Given the description of an element on the screen output the (x, y) to click on. 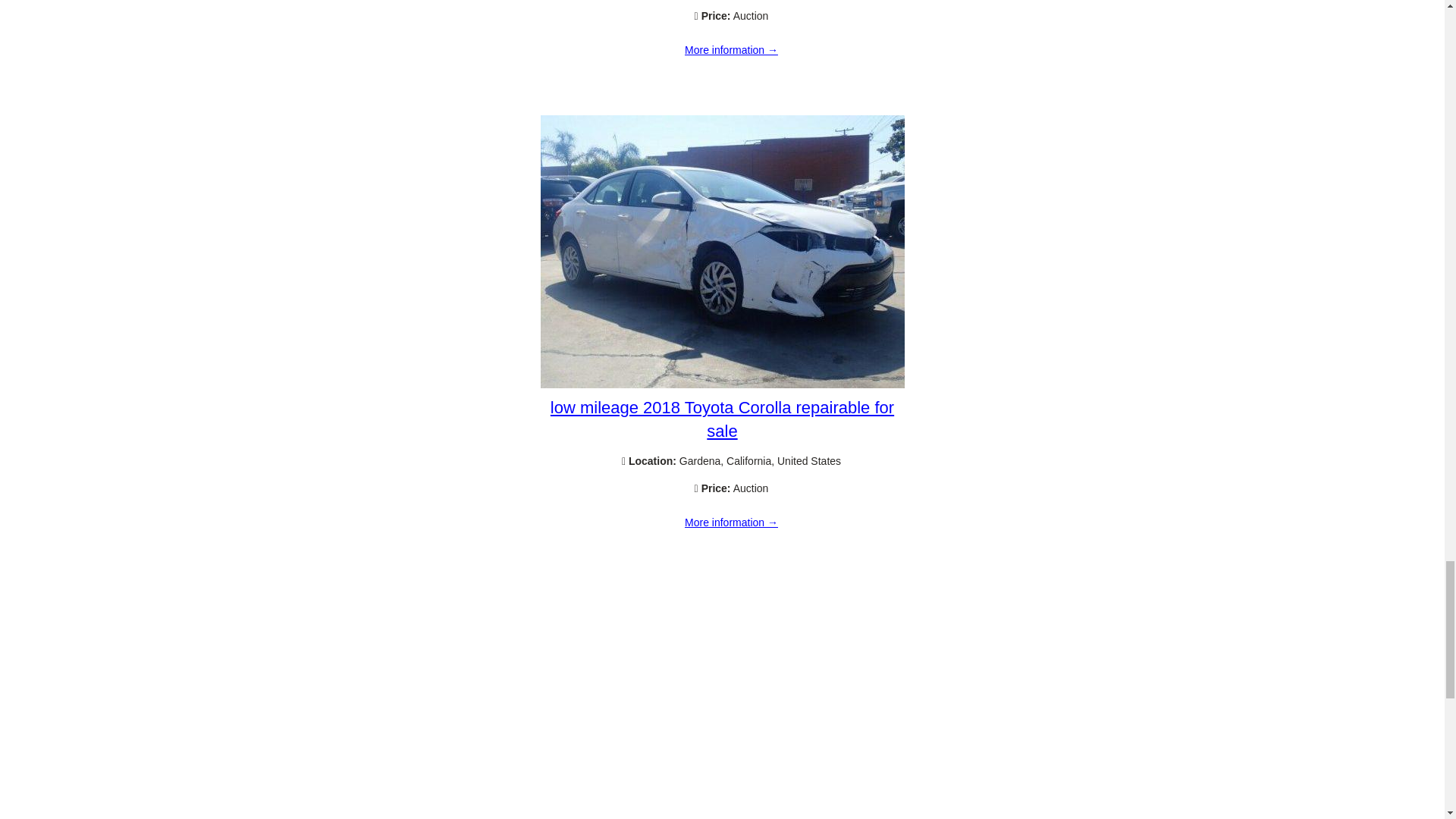
low mileage 2018 Toyota Corolla repairable for sale (721, 419)
low mileage 2018 Toyota Corolla repairable for sale (731, 522)
low mileage 2018 Toyota Corolla repairable for sale (722, 384)
